Given the description of an element on the screen output the (x, y) to click on. 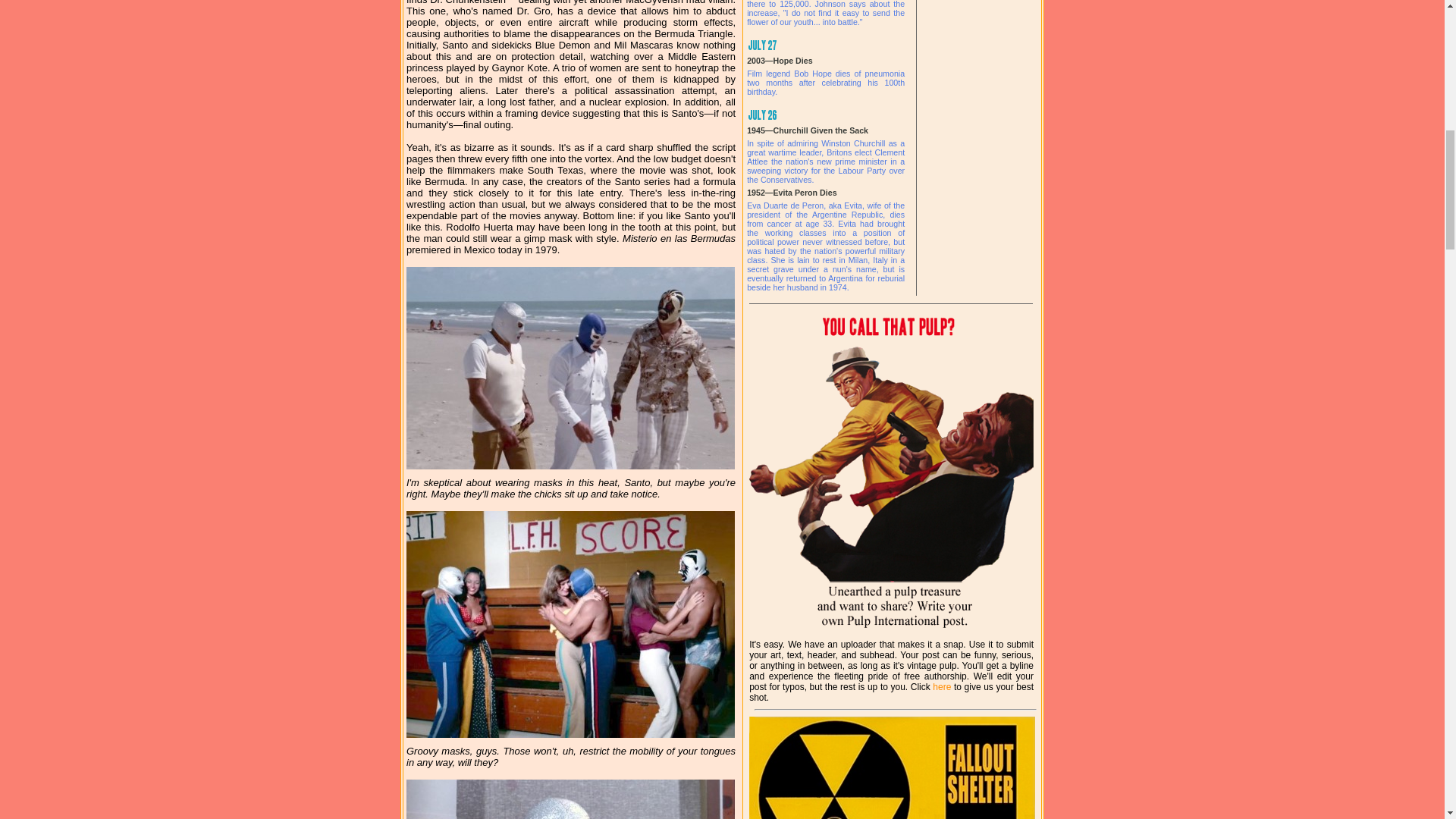
here (941, 686)
